Given the description of an element on the screen output the (x, y) to click on. 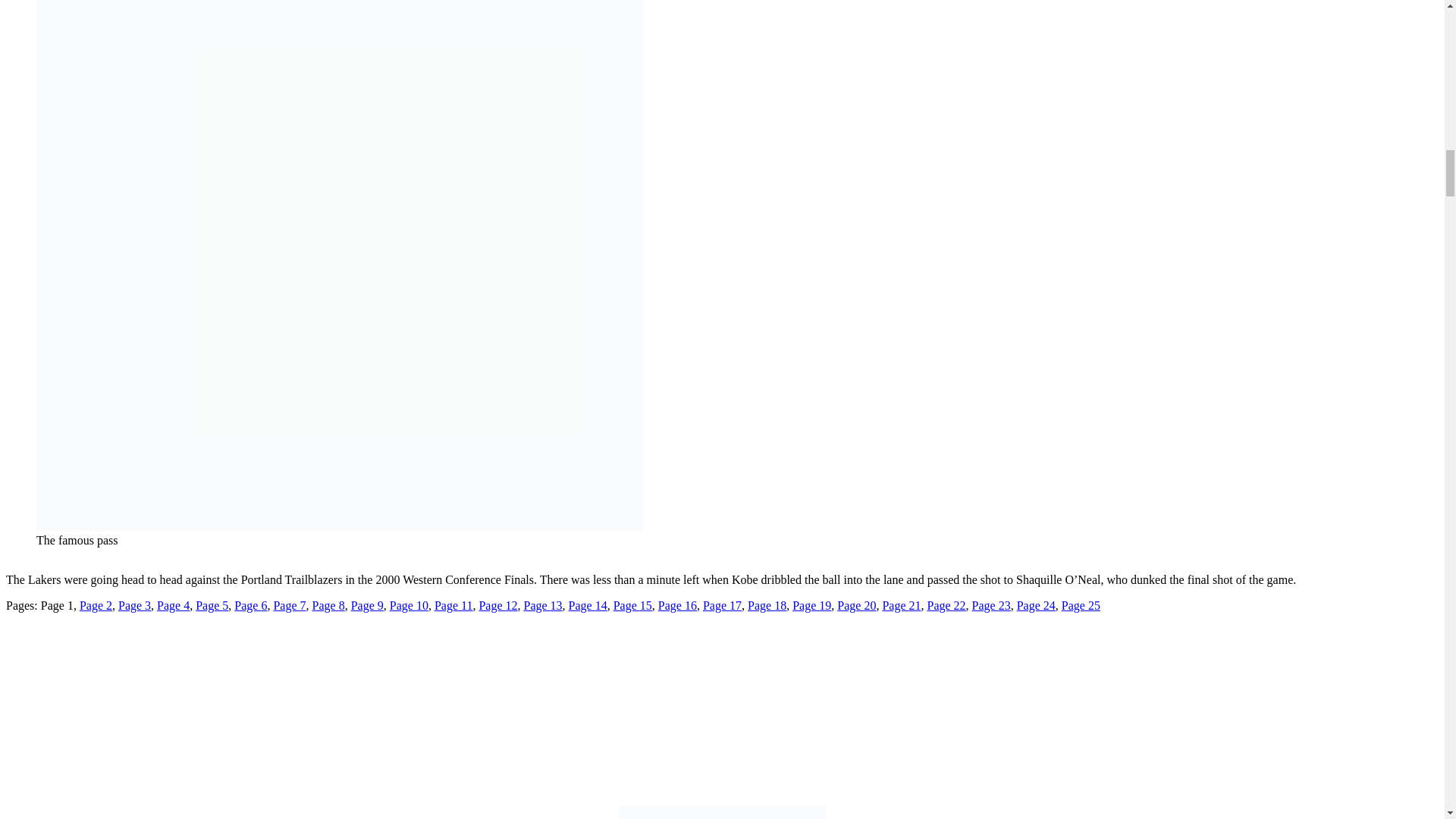
Page 6 (250, 604)
Page 20 (856, 604)
Page 10 (409, 604)
Page 24 (1035, 604)
Page 4 (173, 604)
Page 22 (945, 604)
Page 11 (453, 604)
Page 14 (588, 604)
Page 18 (767, 604)
Page 25 (1080, 604)
